Given the description of an element on the screen output the (x, y) to click on. 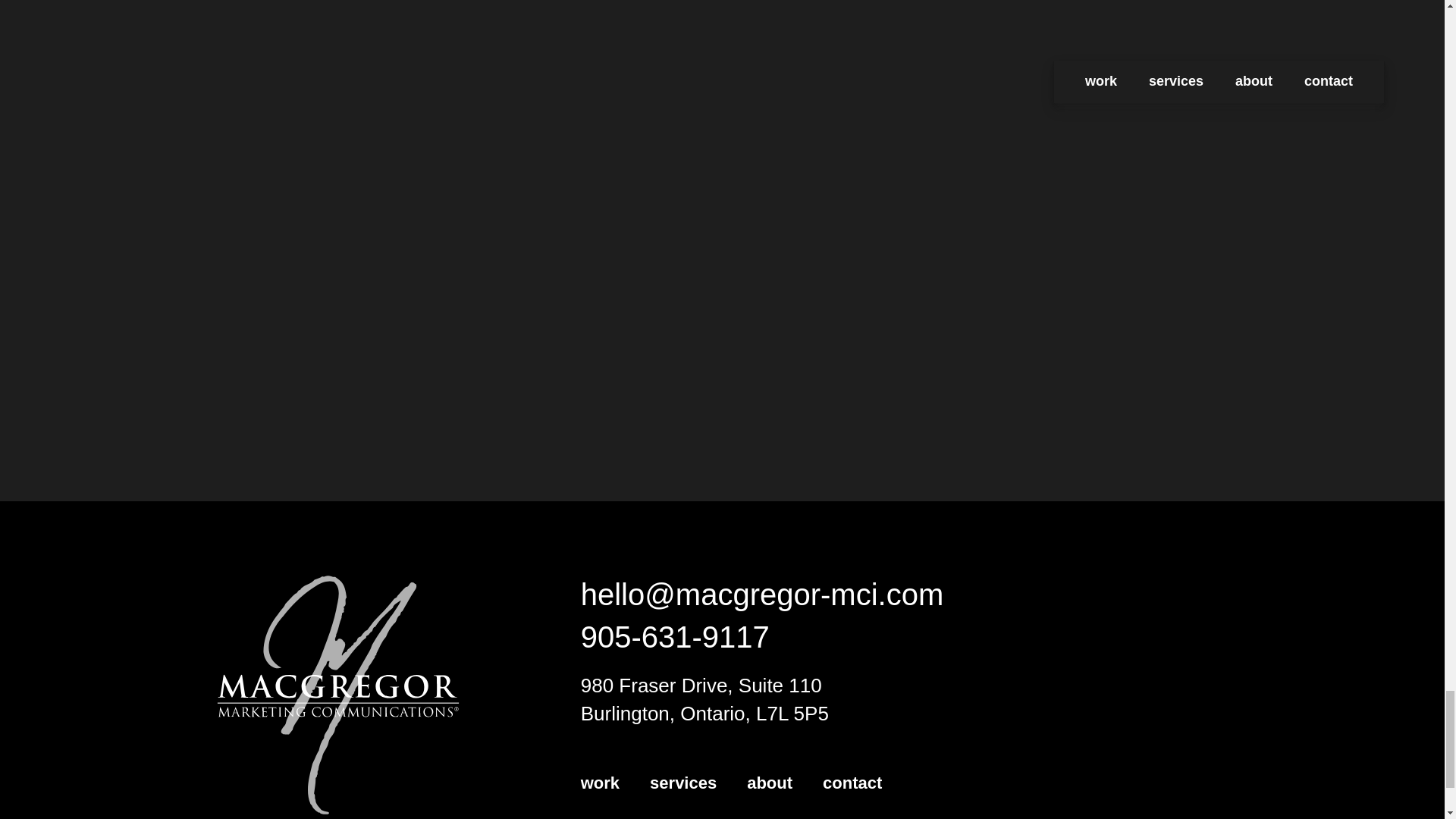
contact (852, 783)
905-631-9117 (675, 636)
services (682, 783)
work (600, 783)
about (769, 783)
